Given the description of an element on the screen output the (x, y) to click on. 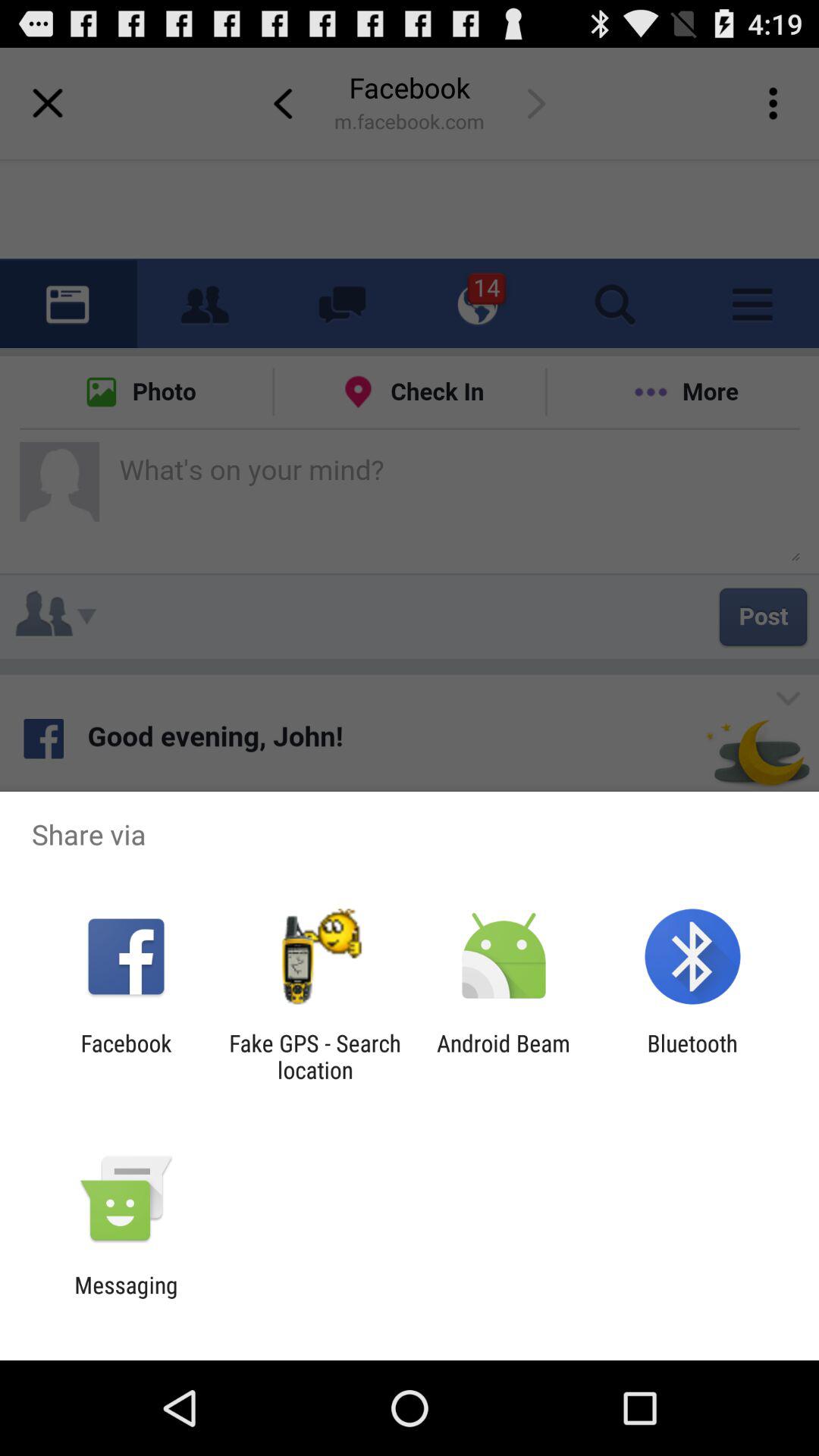
scroll to the bluetooth app (692, 1056)
